Given the description of an element on the screen output the (x, y) to click on. 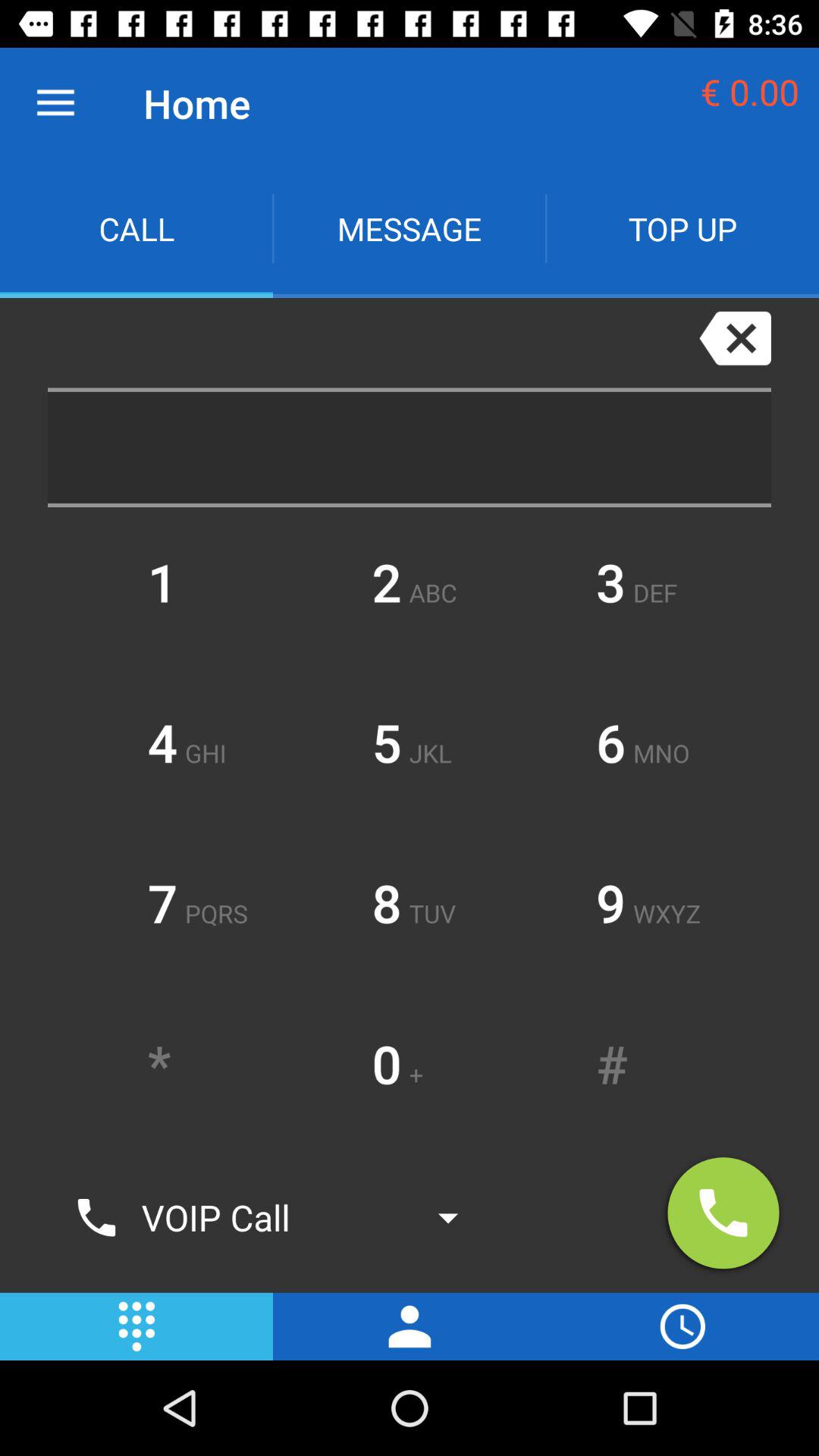
choose app above the call app (55, 103)
